Given the description of an element on the screen output the (x, y) to click on. 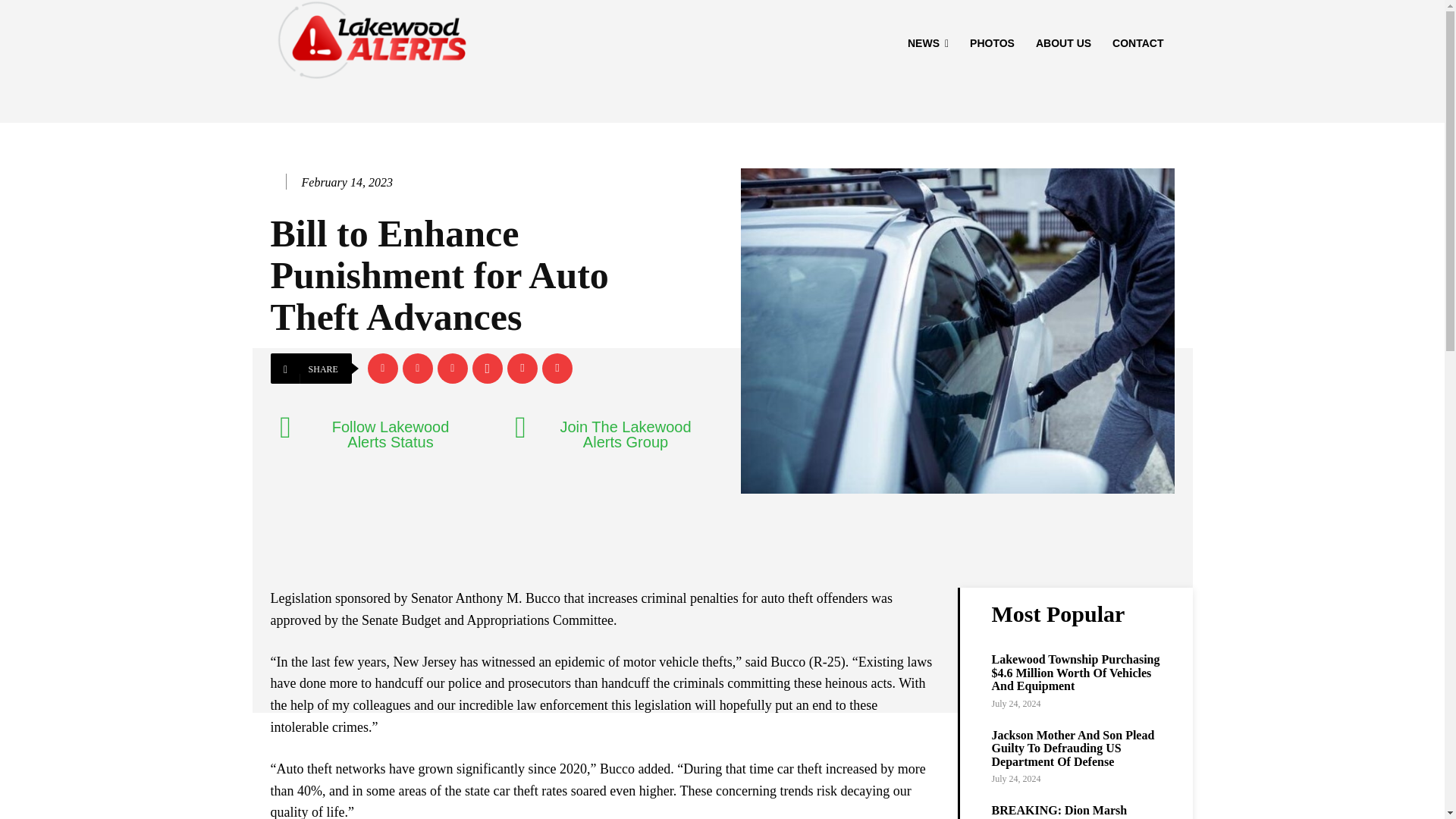
Linkedin (452, 368)
Email (521, 368)
PHOTOS (992, 43)
Print (556, 368)
Twitter (417, 368)
NEWS (927, 43)
Facebook (382, 368)
ABOUT US (1063, 43)
WhatsApp (486, 368)
CONTACT (1137, 43)
